Given the description of an element on the screen output the (x, y) to click on. 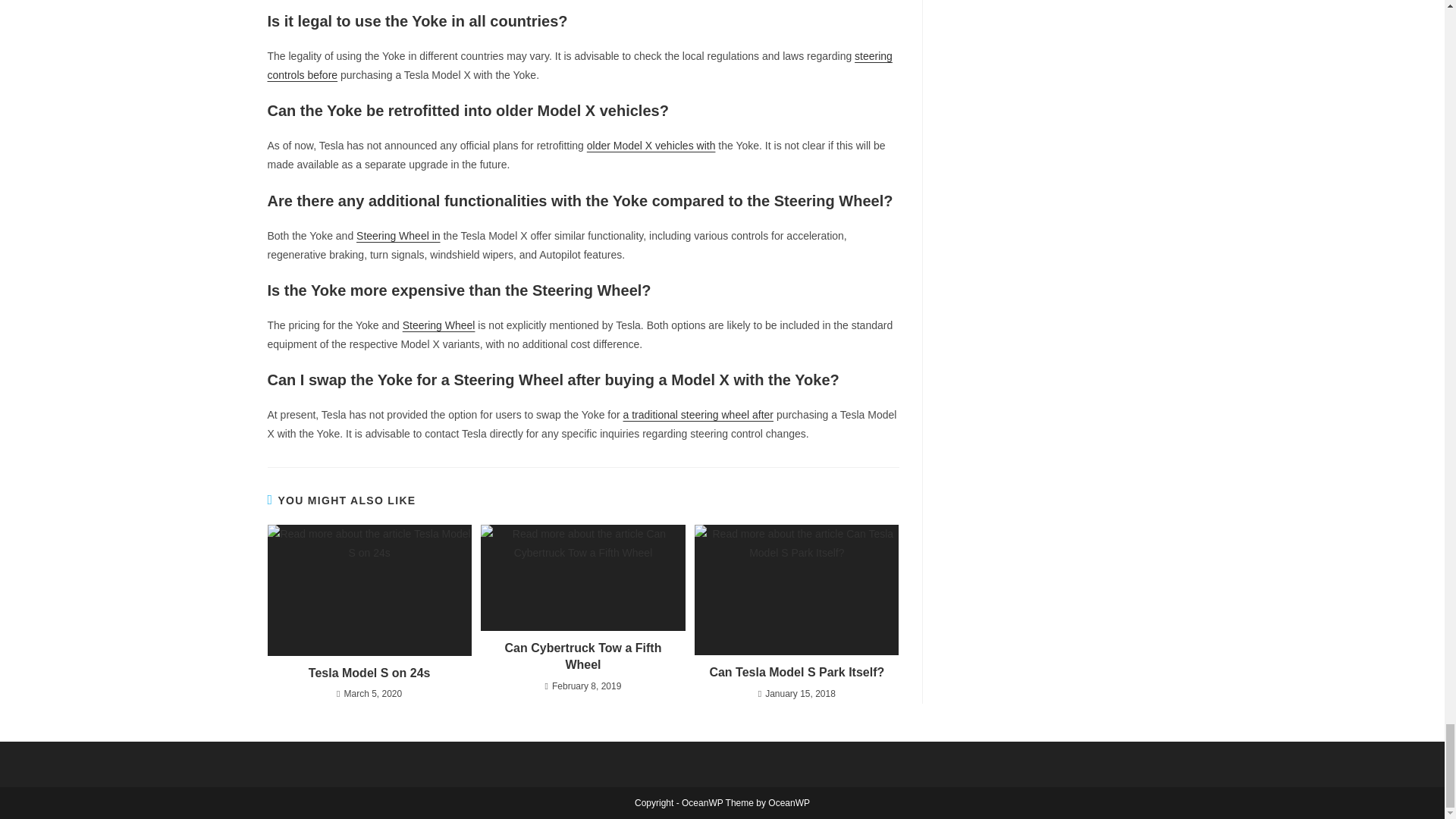
older Model X vehicles with (651, 145)
Tesla Model S on 24s (368, 673)
a traditional steering wheel after (698, 414)
steering controls before (578, 65)
Steering Wheel in (398, 235)
Steering Wheel (439, 325)
